Given the description of an element on the screen output the (x, y) to click on. 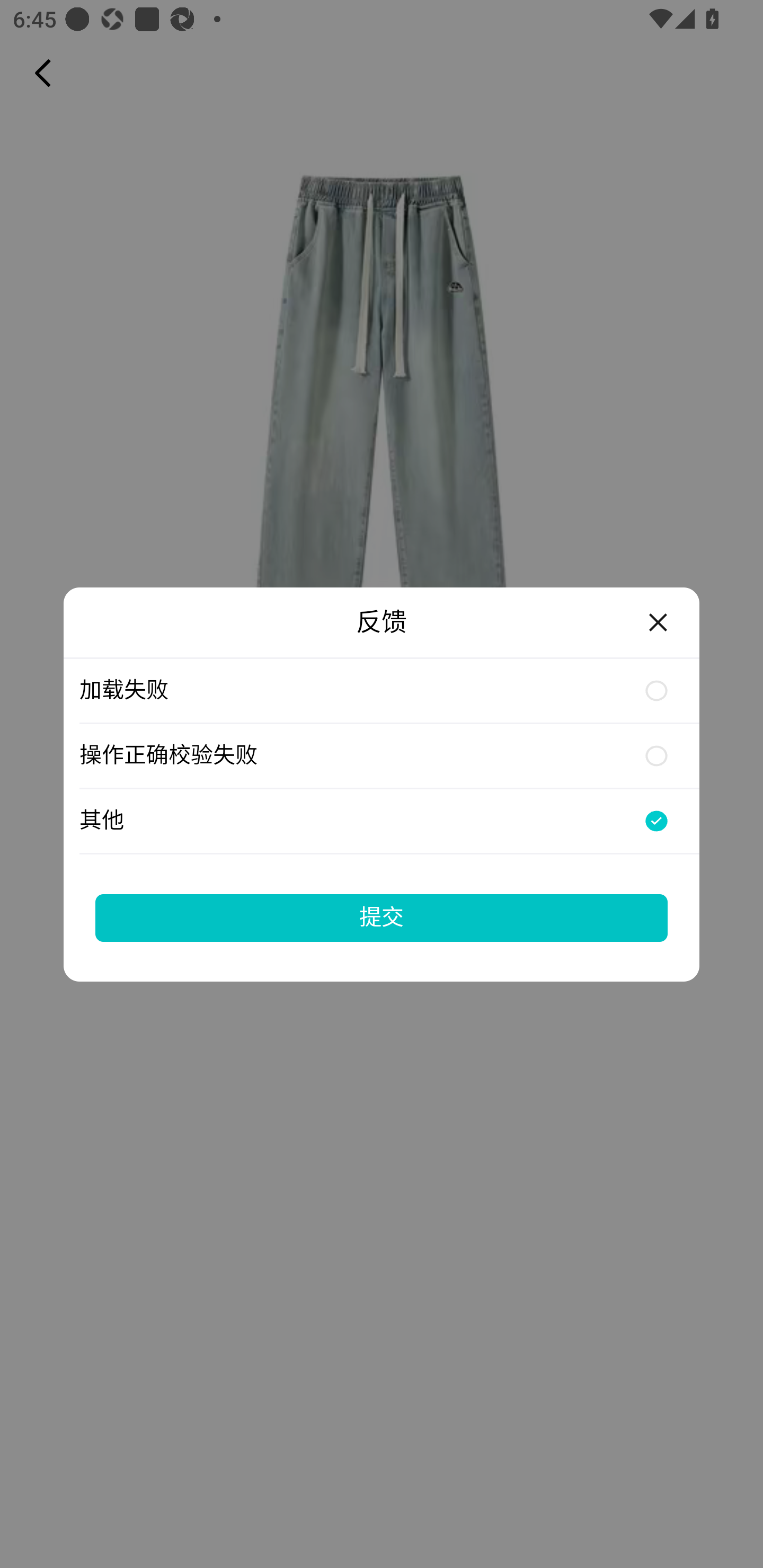
提交 (381, 917)
